Given the description of an element on the screen output the (x, y) to click on. 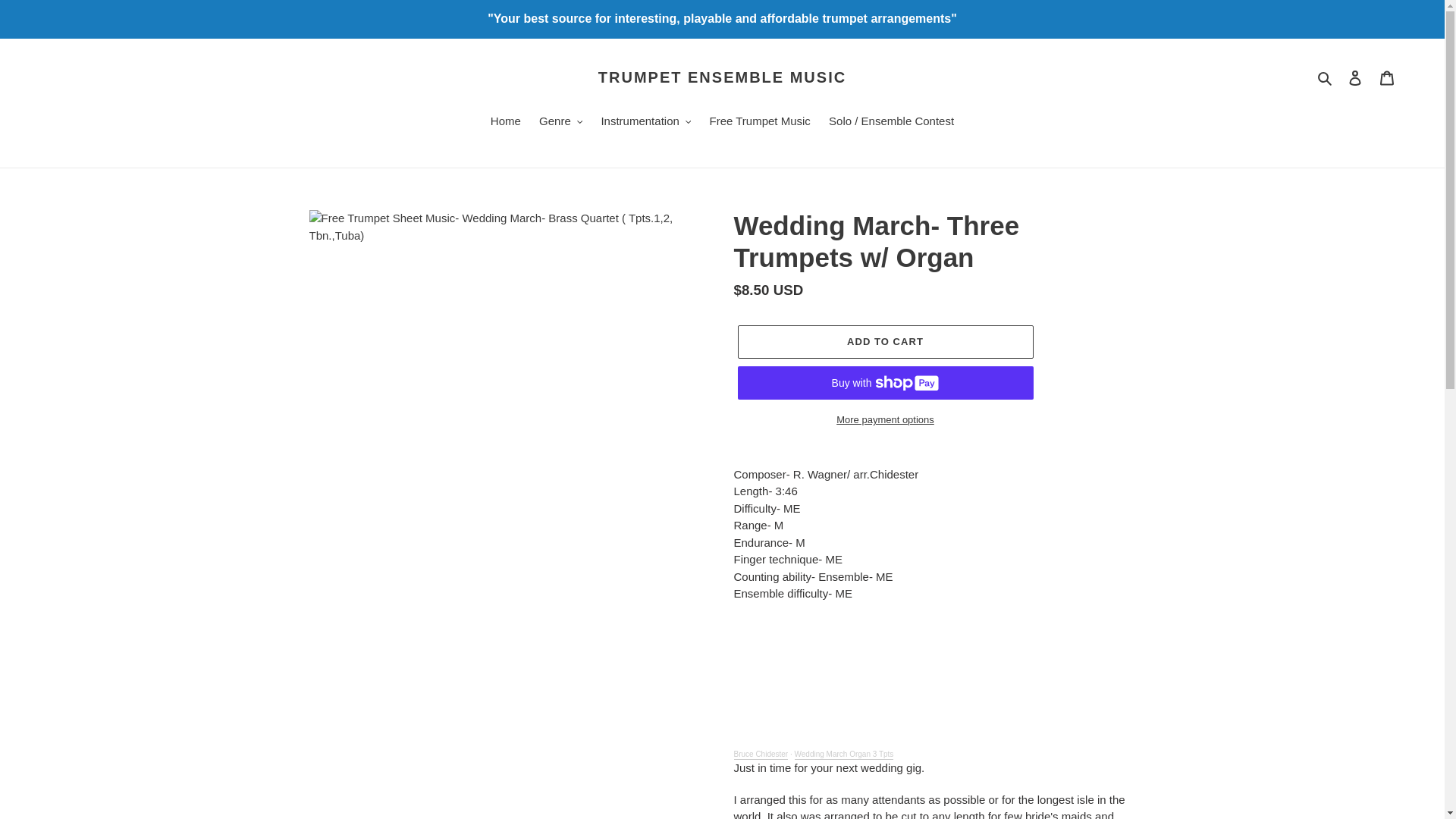
Search (1326, 76)
Cart (1387, 77)
Bruce Chidester (761, 755)
Wedding March Organ 3 Tpts (843, 755)
TRUMPET ENSEMBLE MUSIC (721, 76)
Log in (1355, 77)
